Given the description of an element on the screen output the (x, y) to click on. 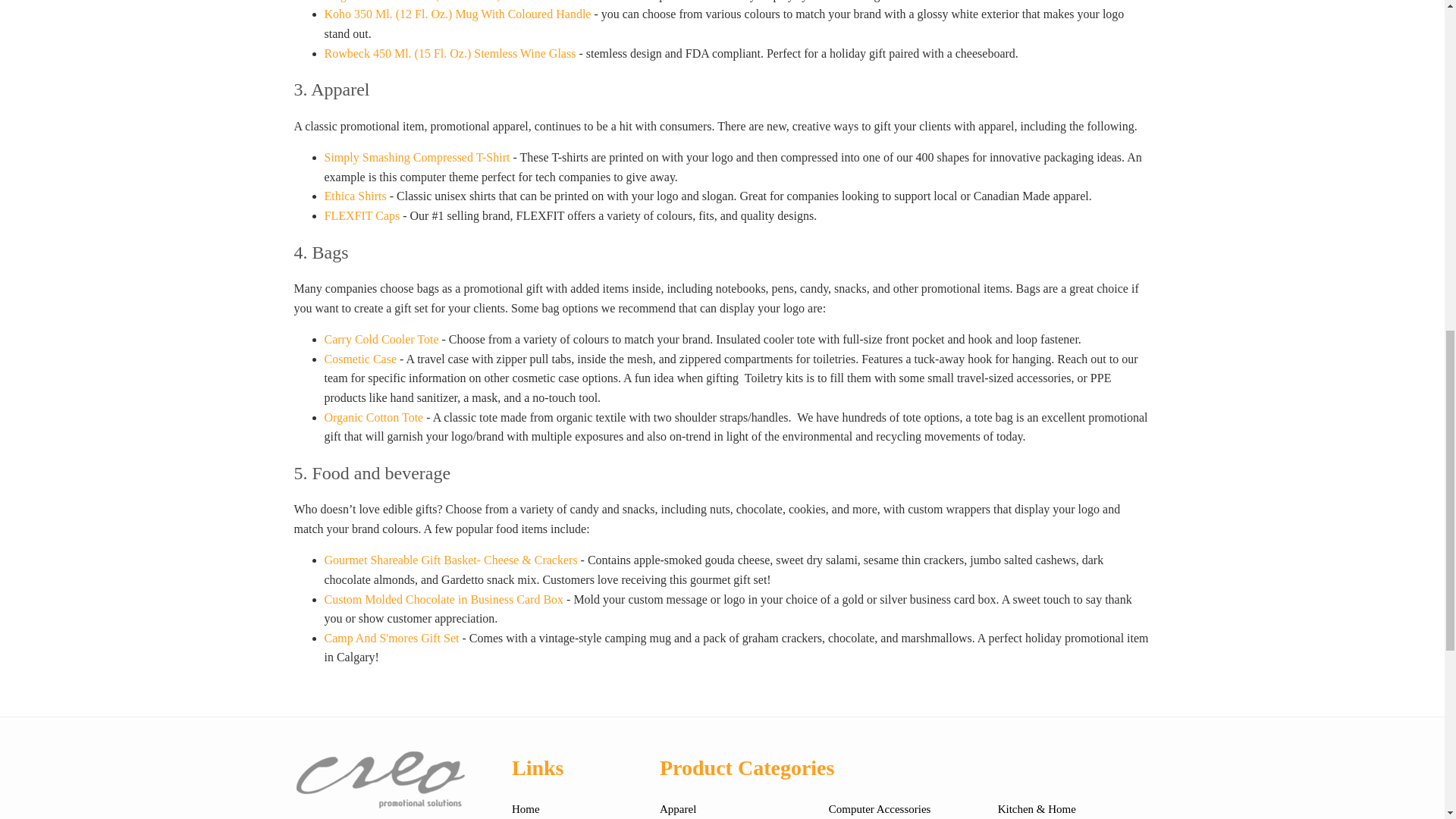
FLEXFIT Caps (362, 215)
Camp And S'mores Gift Set (392, 637)
Organic Cotton Tote (373, 417)
Custom Molded Chocolate in Business Card Box (444, 599)
Carry Cold Cooler Tote (381, 338)
Cosmetic Case (360, 358)
Simply Smashing Compressed T-Shirt (417, 156)
Home (526, 808)
Ethica Shirts (355, 195)
